Given the description of an element on the screen output the (x, y) to click on. 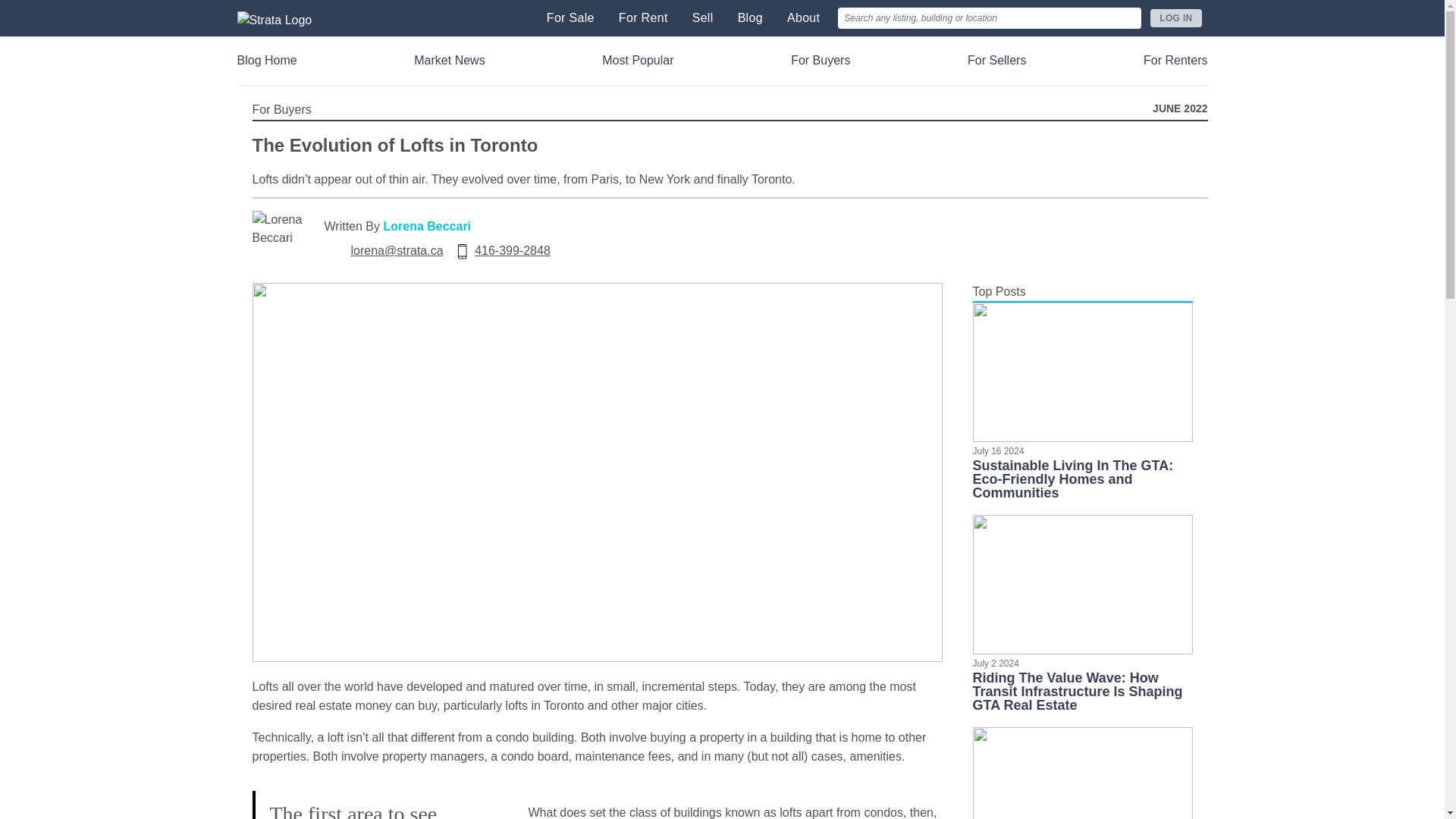
About (803, 18)
LOG IN (1175, 18)
Search any listing, building or location (989, 17)
For Buyers (281, 110)
416-399-2848 (512, 250)
Lorena Beccari (426, 226)
Blog Home (266, 60)
Market News (448, 60)
For Buyers (820, 60)
Most Popular (637, 60)
For Sale (570, 18)
For Renters (1174, 60)
